Given the description of an element on the screen output the (x, y) to click on. 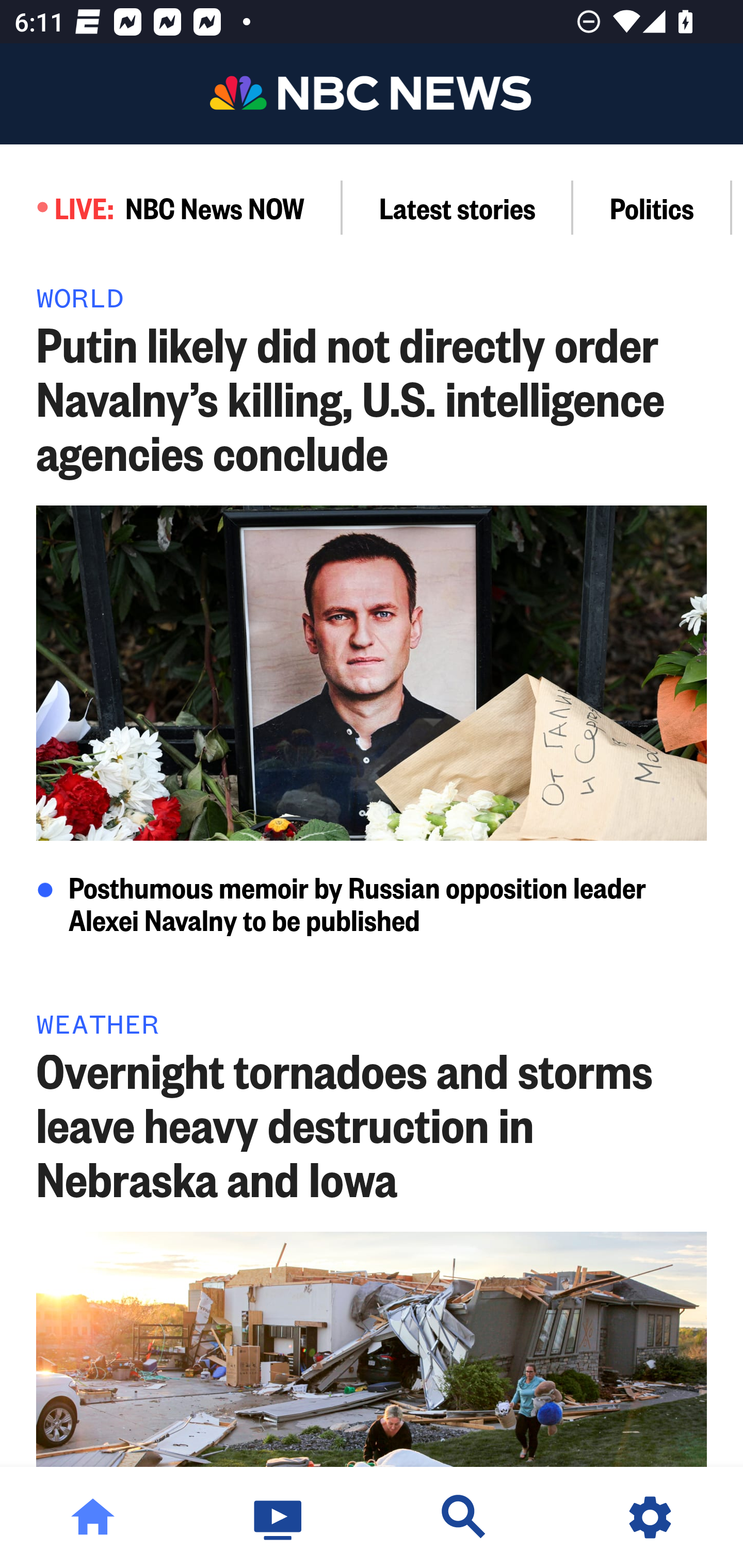
LIVE:  NBC News NOW (171, 207)
Latest stories Section,Latest stories (457, 207)
Politics Section,Politics (652, 207)
Watch (278, 1517)
Discover (464, 1517)
Settings (650, 1517)
